Given the description of an element on the screen output the (x, y) to click on. 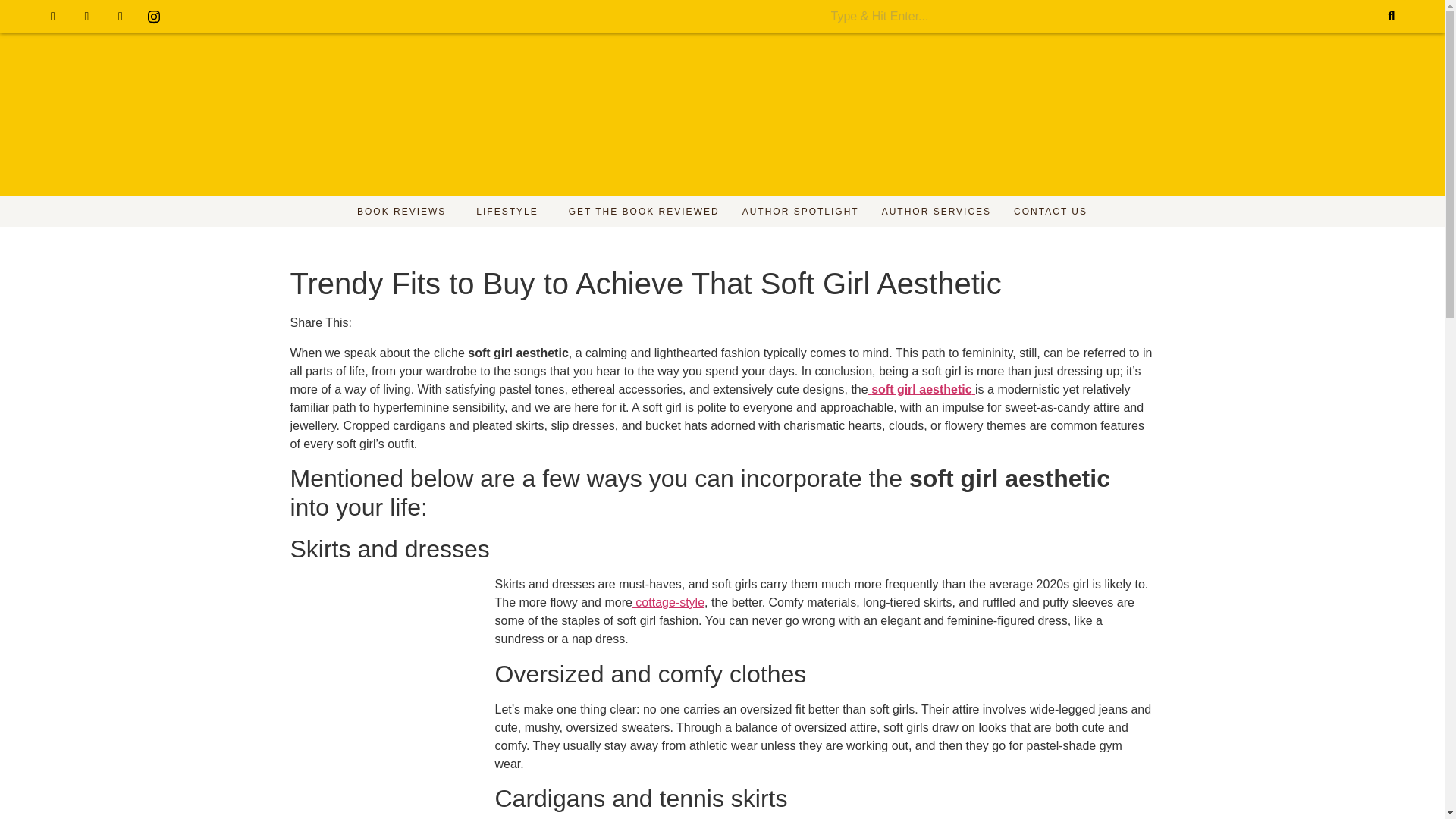
BOOK REVIEWS (405, 211)
LIFESTYLE (510, 211)
Search (1101, 16)
